Given the description of an element on the screen output the (x, y) to click on. 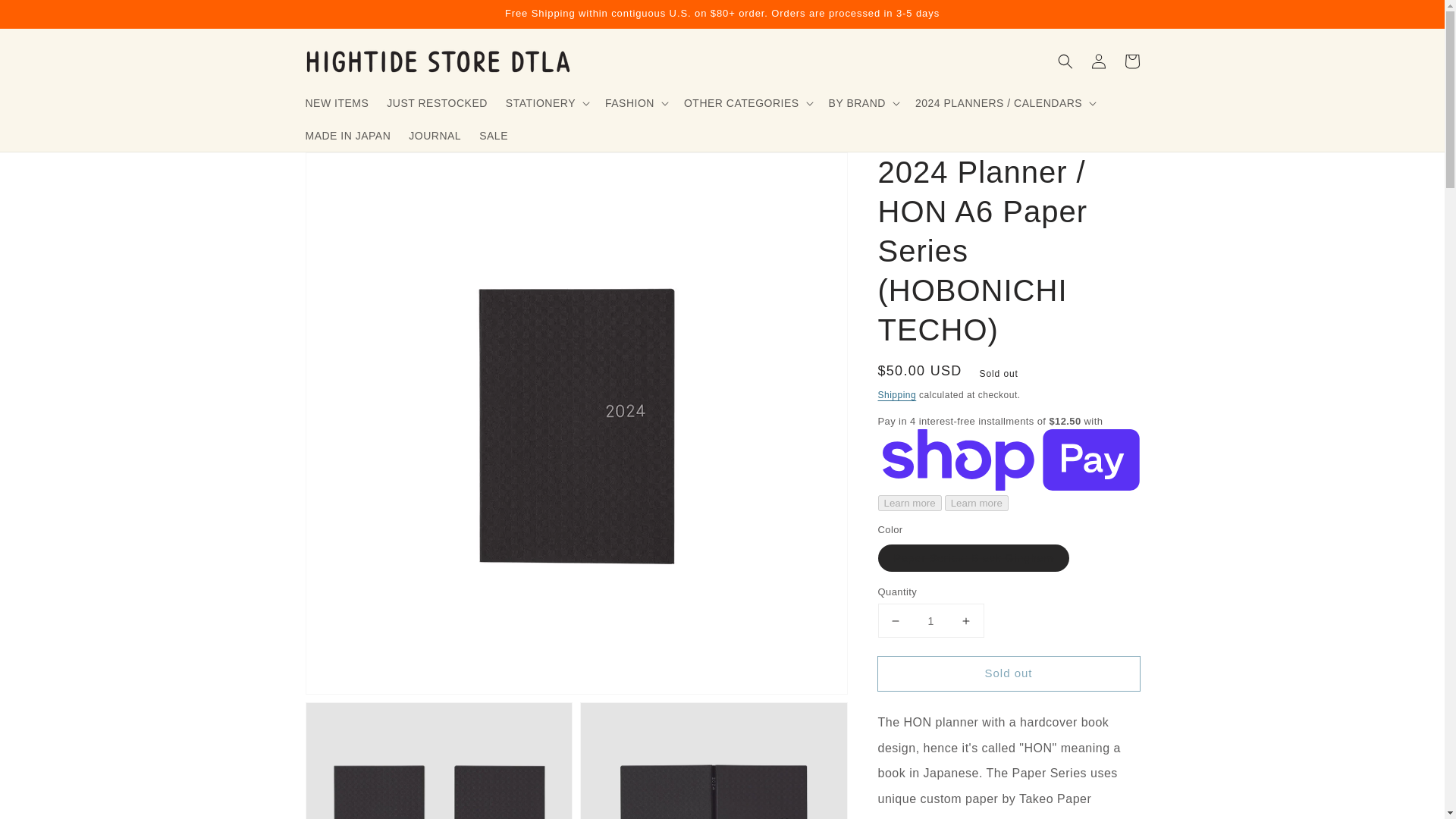
1 (930, 620)
Skip to content (45, 16)
